Given the description of an element on the screen output the (x, y) to click on. 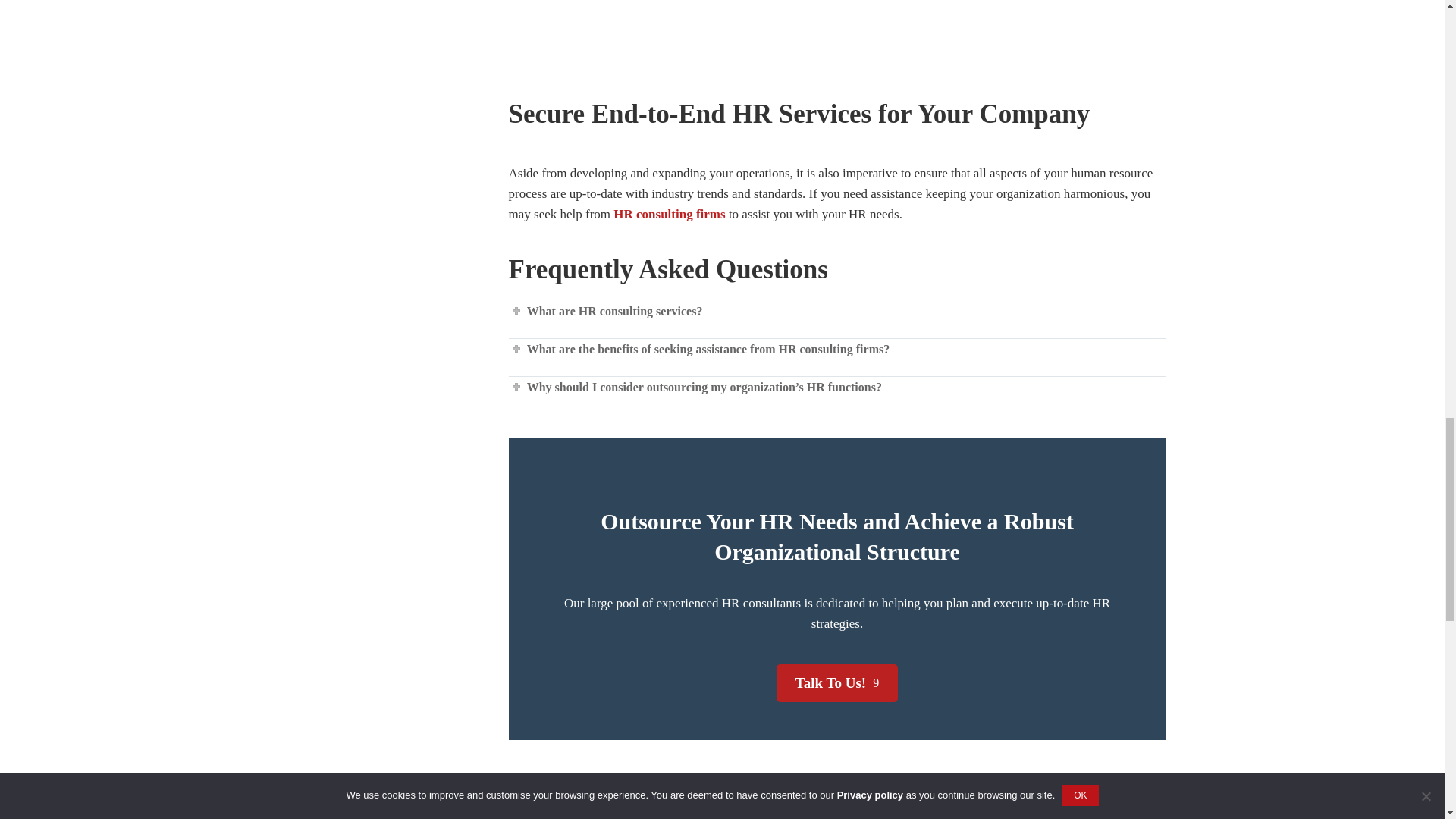
Contact Us (837, 682)
HRP-PROCESS-min (837, 41)
HR consulting firms (668, 214)
